Given the description of an element on the screen output the (x, y) to click on. 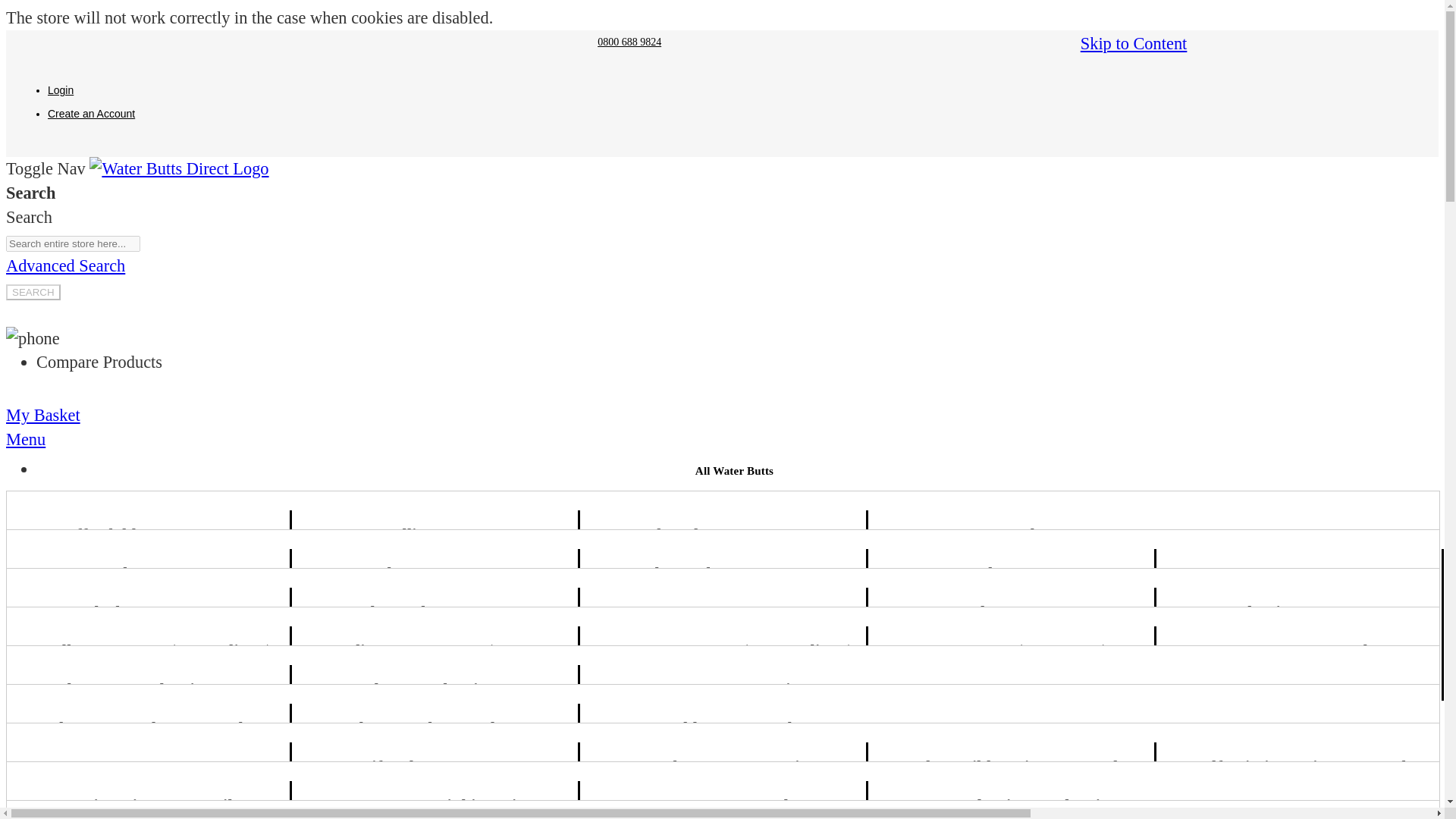
Round Water Butts (1011, 570)
0800 688 9824 (628, 41)
Column Water Butts (434, 613)
Clay Water Butts (435, 570)
Black Water Butts (145, 609)
Advanced Search (65, 265)
Search (33, 292)
Rattan Water Butts (722, 656)
Skip to Content (1134, 43)
Affordable Water Butts (147, 531)
